Given the description of an element on the screen output the (x, y) to click on. 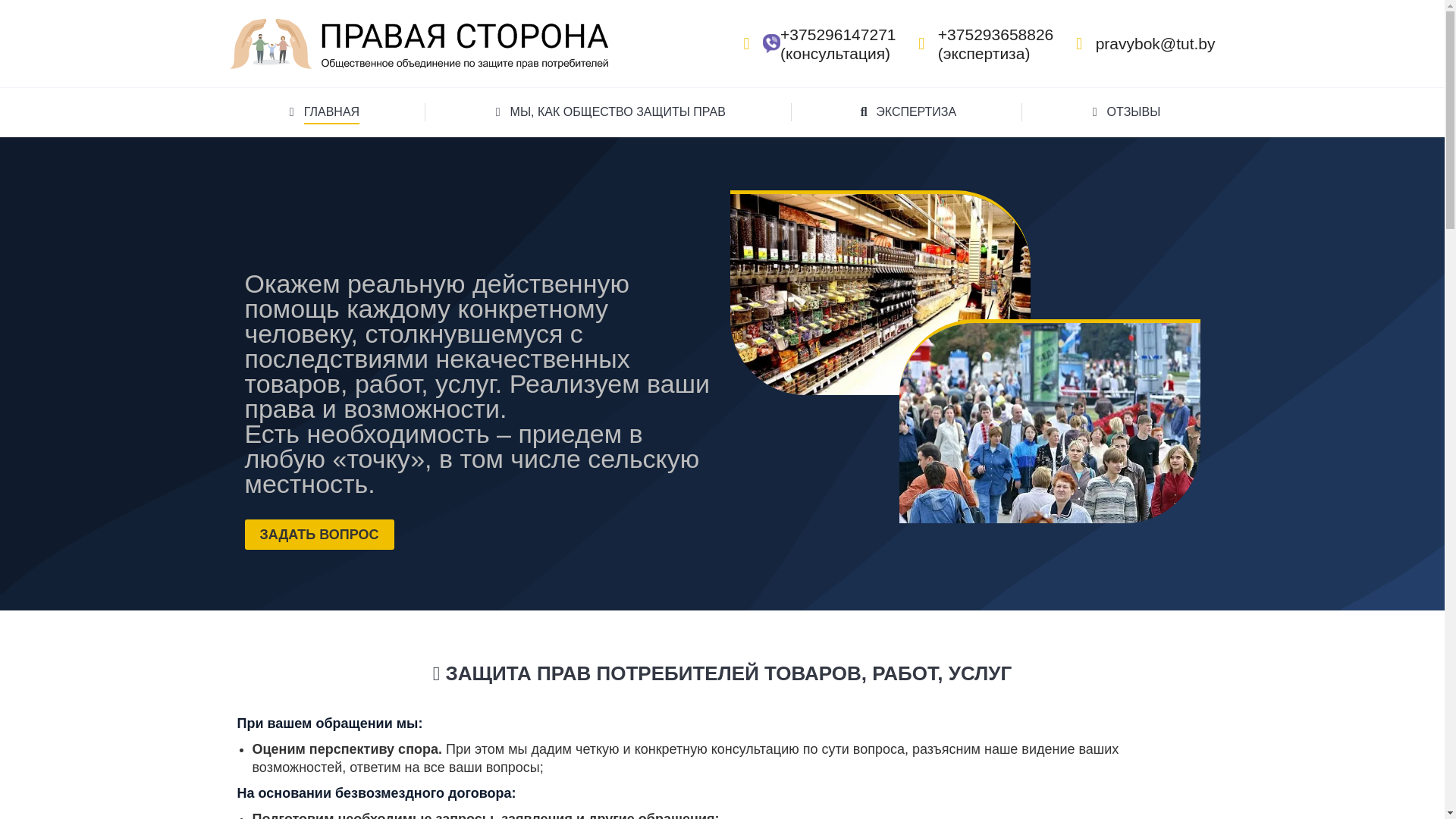
pravybok@tut.by Element type: text (1141, 43)
